Given the description of an element on the screen output the (x, y) to click on. 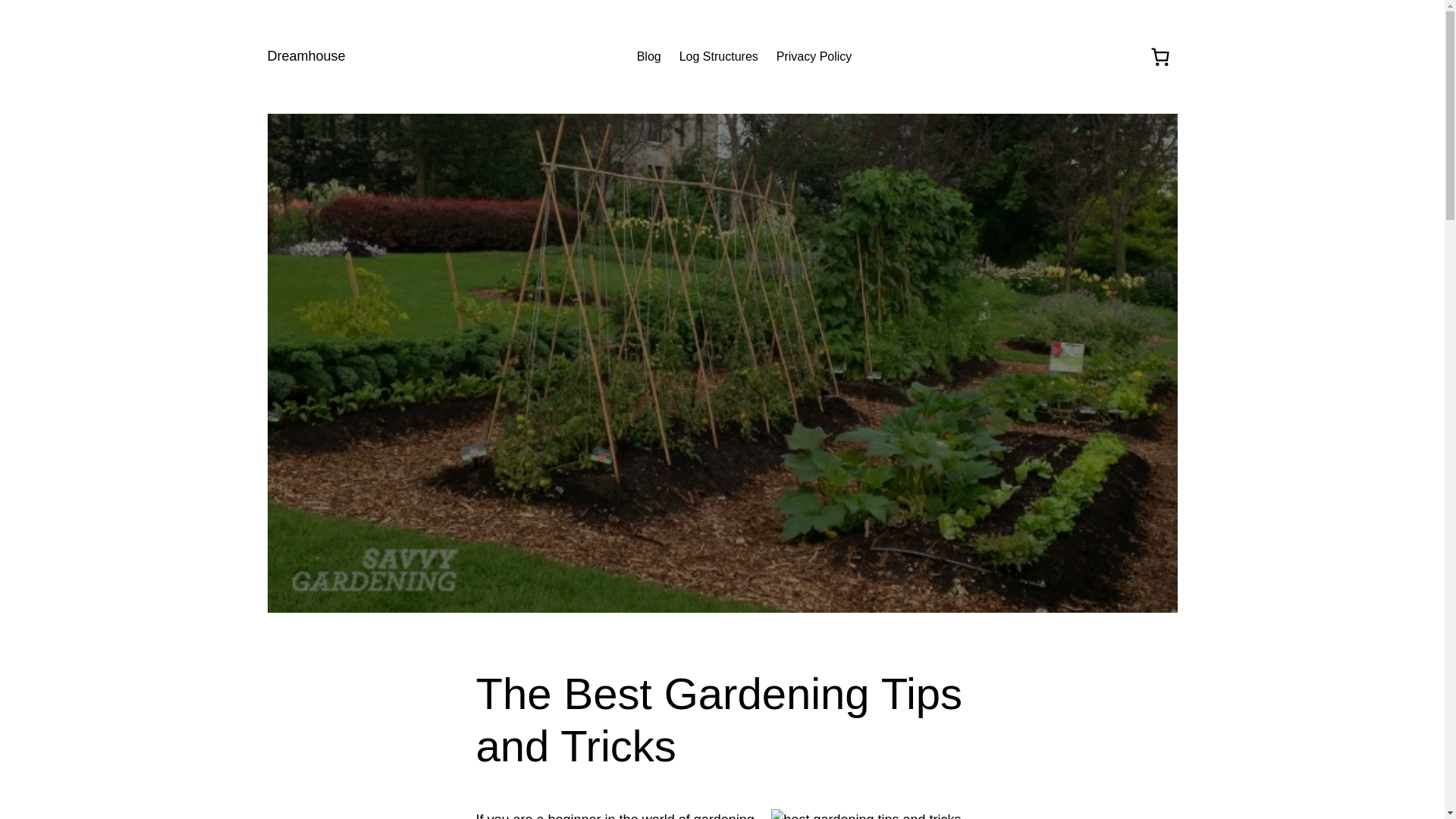
Blog (649, 56)
Log Structures (718, 56)
Dreamhouse (305, 55)
Privacy Policy (813, 56)
